Given the description of an element on the screen output the (x, y) to click on. 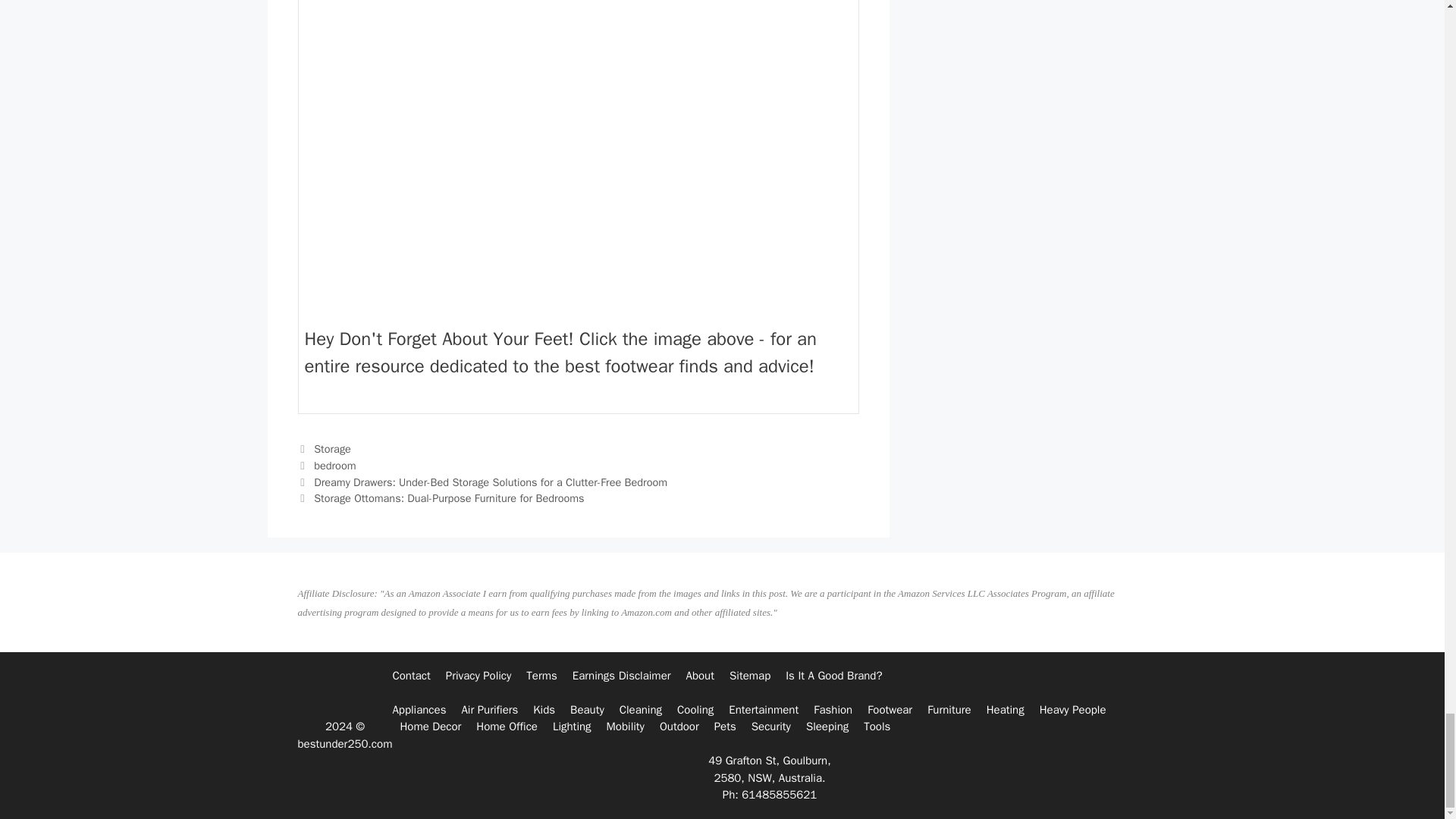
Is It A Good Brand? (834, 675)
Privacy Policy (478, 675)
bedroom (334, 465)
Storage (332, 448)
Storage Ottomans: Dual-Purpose Furniture for Bedrooms (448, 498)
Sitemap (749, 675)
About (699, 675)
Earnings Disclaimer (621, 675)
Appliances (418, 709)
Air Purifiers (489, 709)
